Given the description of an element on the screen output the (x, y) to click on. 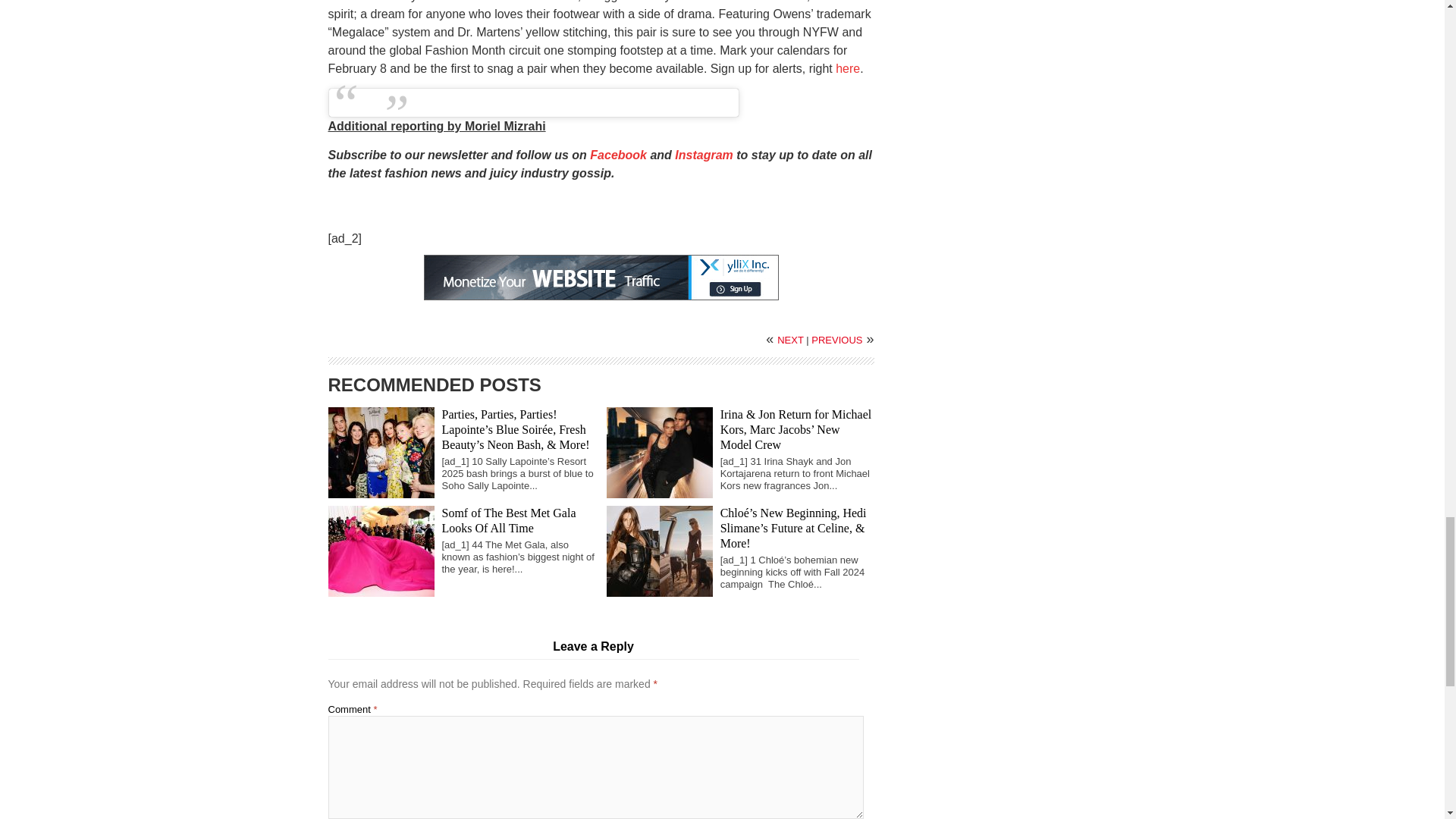
Somf of The Best Met Gala Looks Of All Time (508, 520)
Instagram (703, 154)
here (847, 68)
Facebook (617, 154)
Somf of The Best Met Gala Looks Of All Time (508, 520)
